Given the description of an element on the screen output the (x, y) to click on. 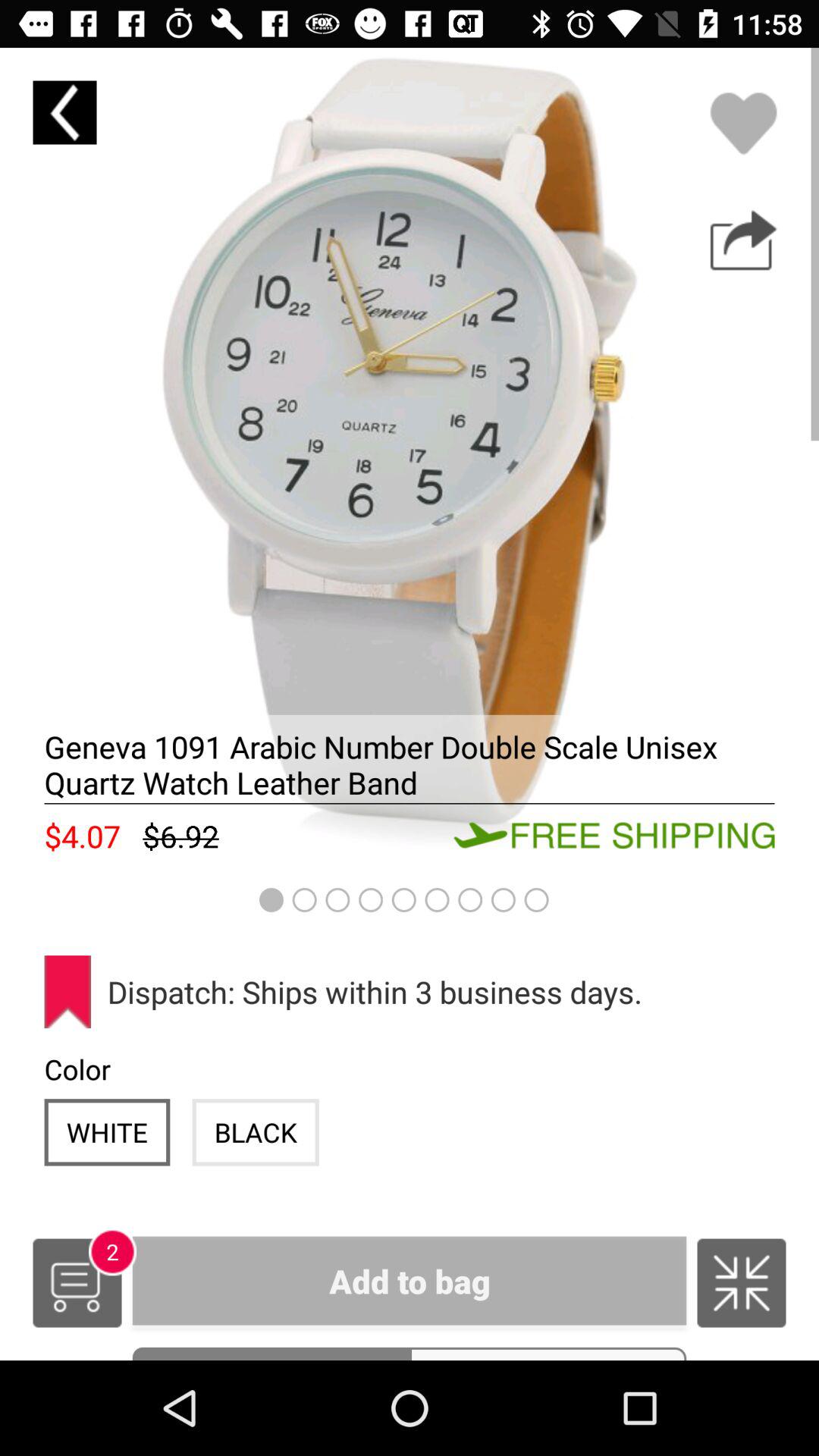
select icon next to add to bag (76, 1282)
